Given the description of an element on the screen output the (x, y) to click on. 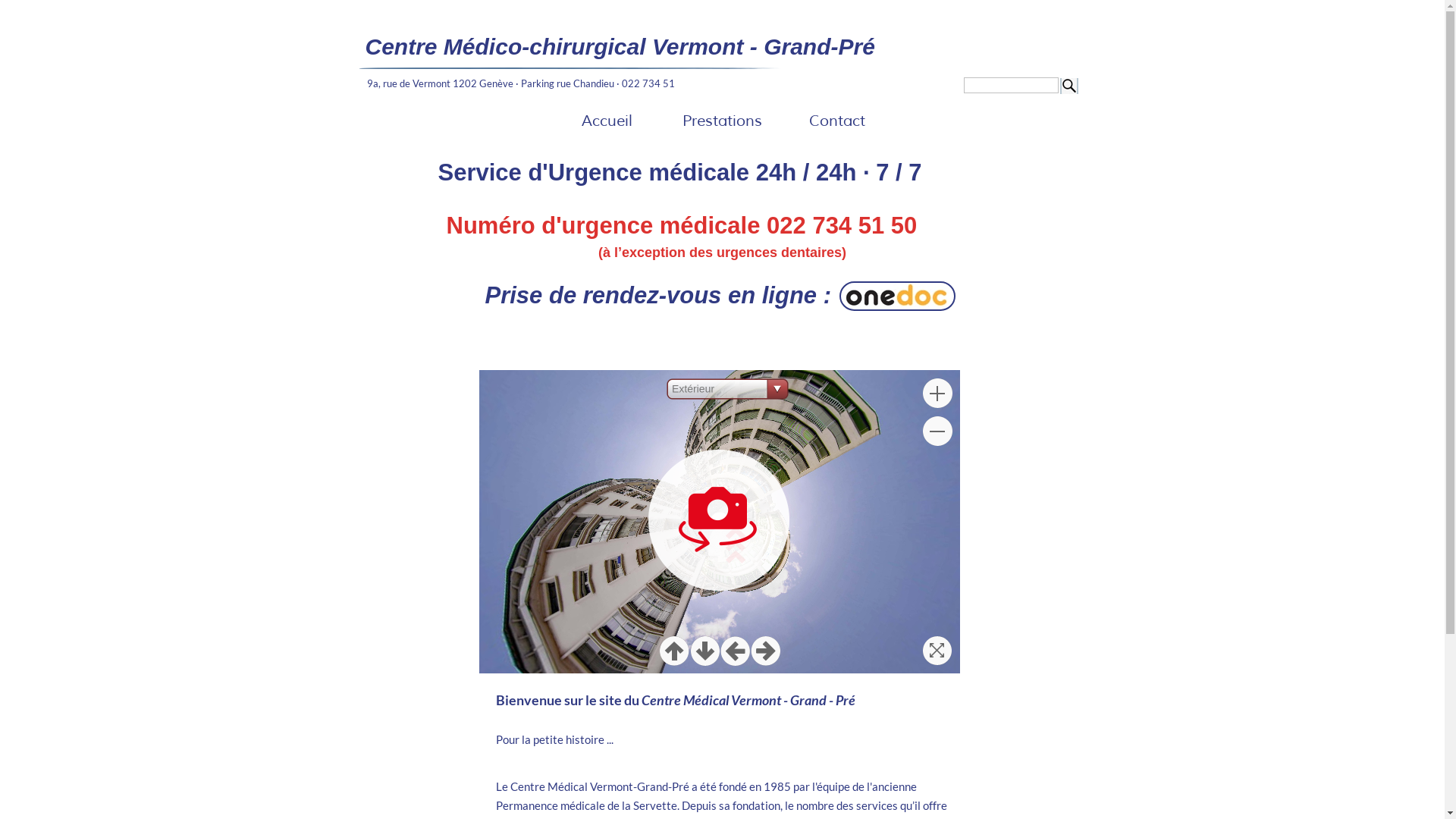
panoramaFrame Element type: hover (719, 521)
